Given the description of an element on the screen output the (x, y) to click on. 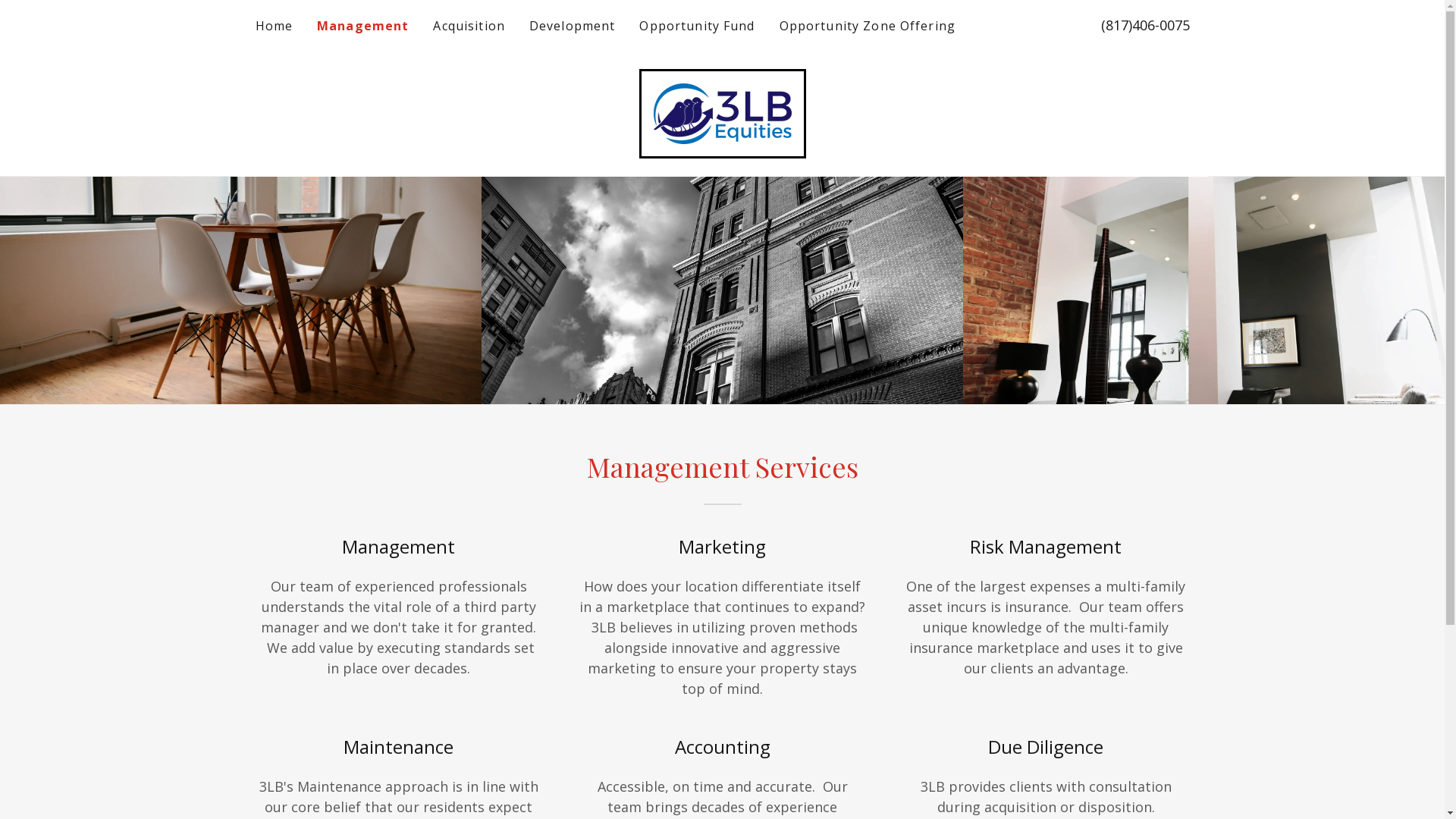
Home Element type: text (273, 25)
Opportunity Zone Offering Element type: text (867, 25)
Management Element type: text (362, 25)
Development Element type: text (572, 25)
3LB Equities Element type: hover (722, 112)
(817)406-0075 Element type: text (1145, 24)
Opportunity Fund Element type: text (696, 25)
Acquisition Element type: text (468, 25)
